Given the description of an element on the screen output the (x, y) to click on. 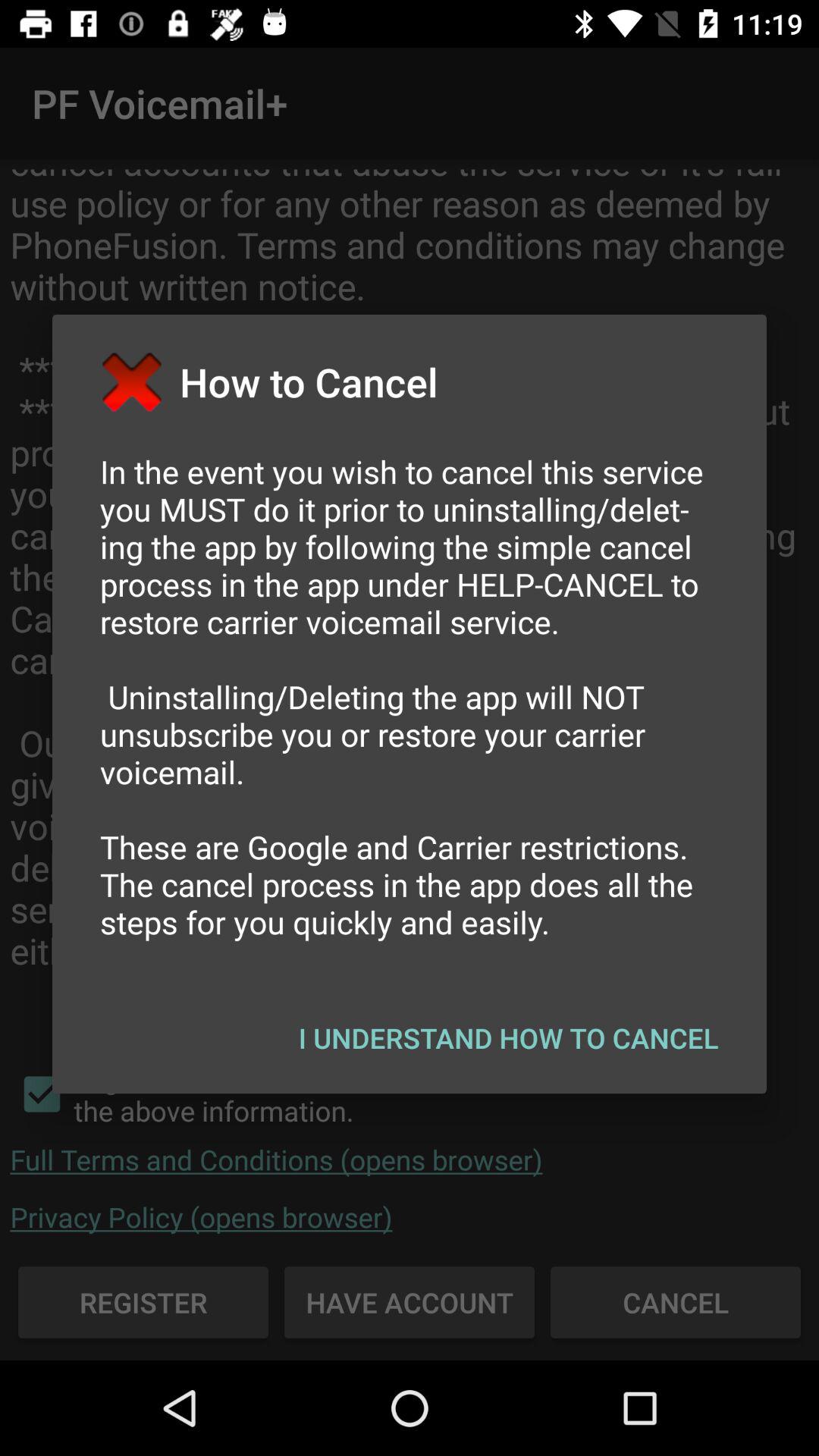
turn off icon at the bottom (508, 1037)
